Given the description of an element on the screen output the (x, y) to click on. 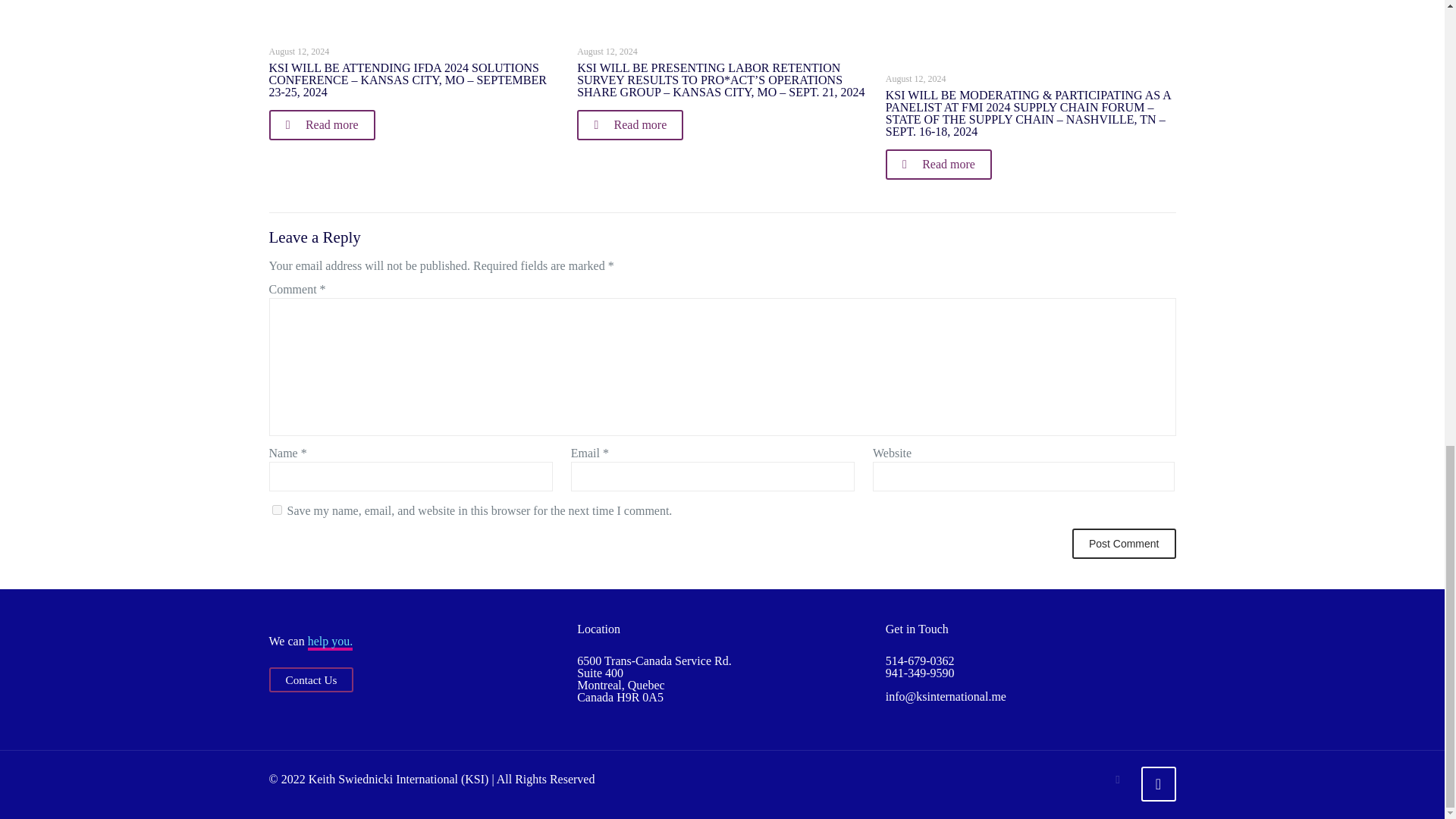
Post Comment (1123, 543)
yes (275, 510)
Read more (320, 124)
LinkedIn (1117, 779)
